Given the description of an element on the screen output the (x, y) to click on. 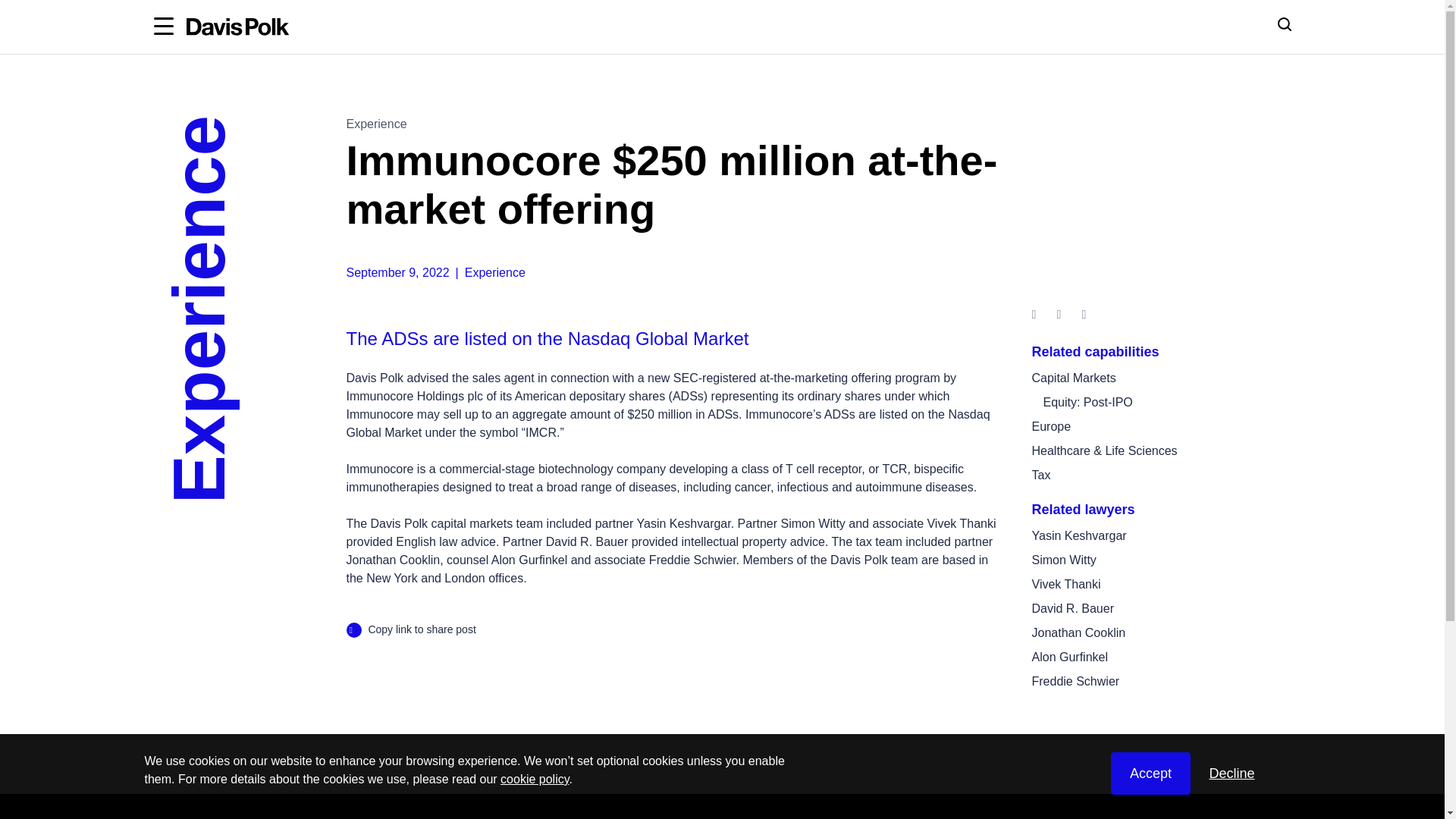
Davis Polk (237, 27)
Experience (376, 123)
Capital Markets (1072, 377)
Equity: Post-IPO (1087, 401)
